Given the description of an element on the screen output the (x, y) to click on. 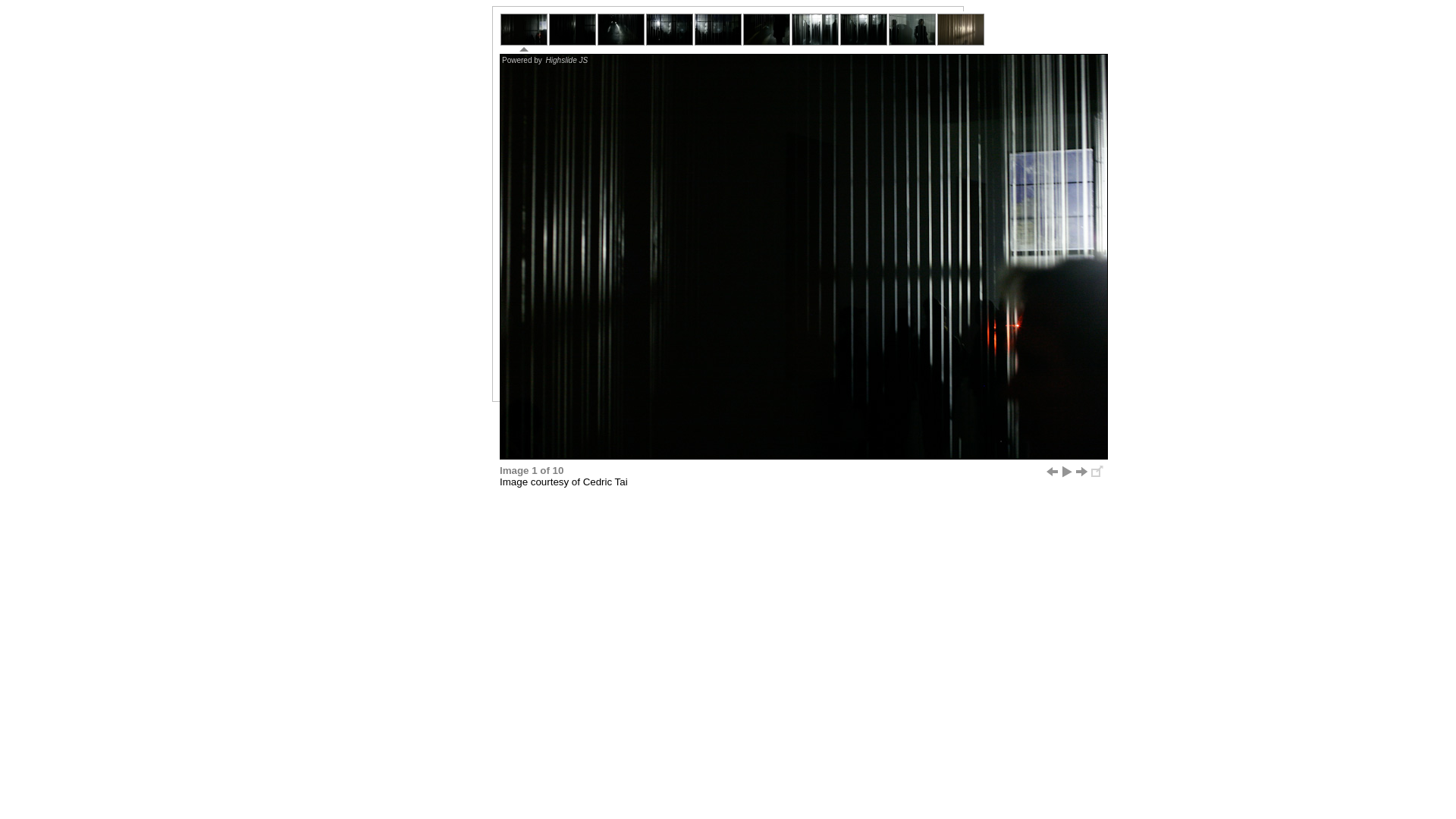
Powered by Highslide JS Element type: text (545, 59)
Expand to actual size (f) Element type: hover (1096, 471)
Play slideshow (spacebar) Element type: hover (1066, 471)
Previous (arrow left) Element type: hover (1051, 471)
Click for next image Element type: hover (803, 256)
Next (arrow right) Element type: hover (1081, 471)
